Given the description of an element on the screen output the (x, y) to click on. 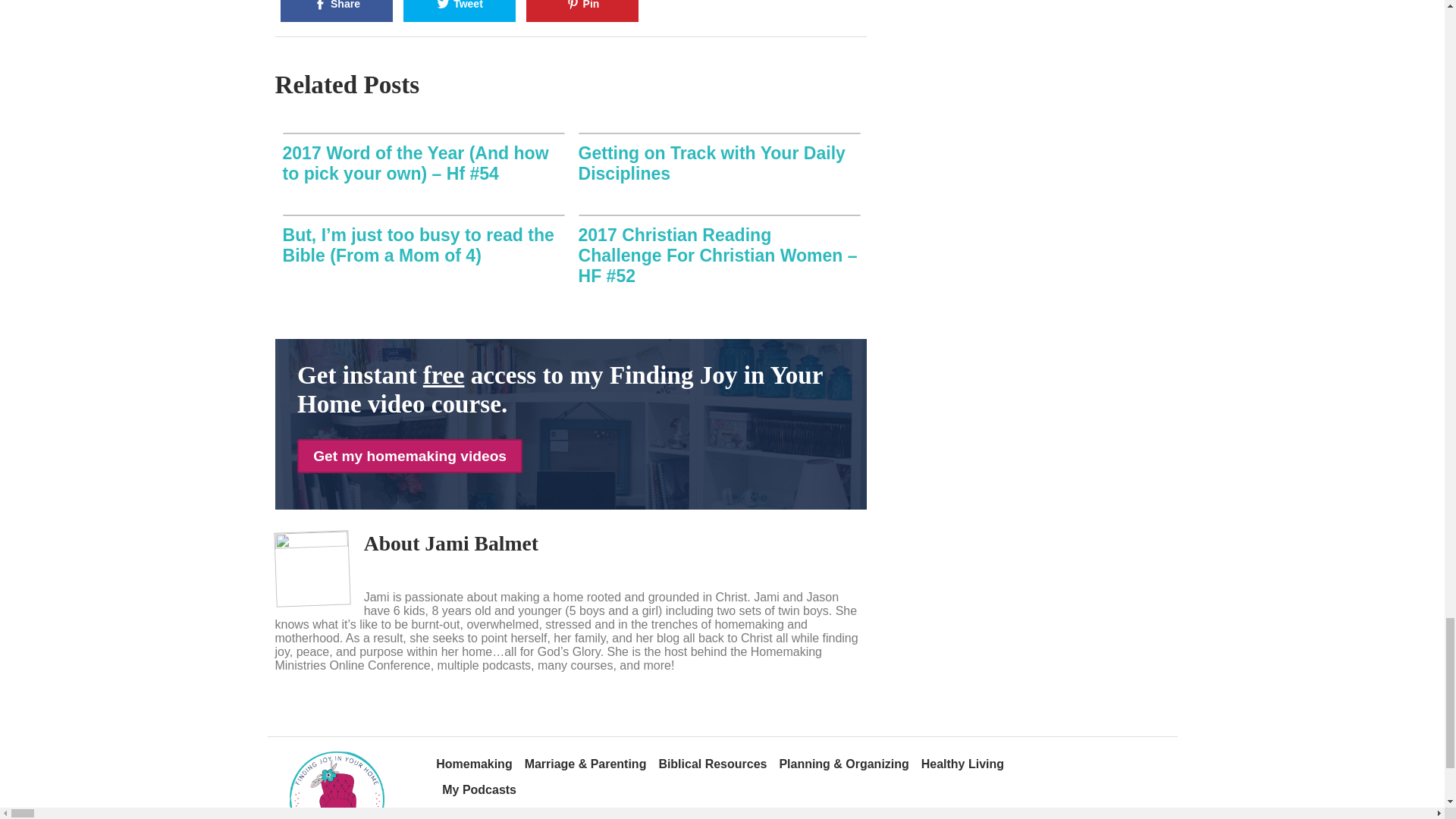
Tweet (459, 11)
Share (337, 11)
Pin (582, 11)
